Given the description of an element on the screen output the (x, y) to click on. 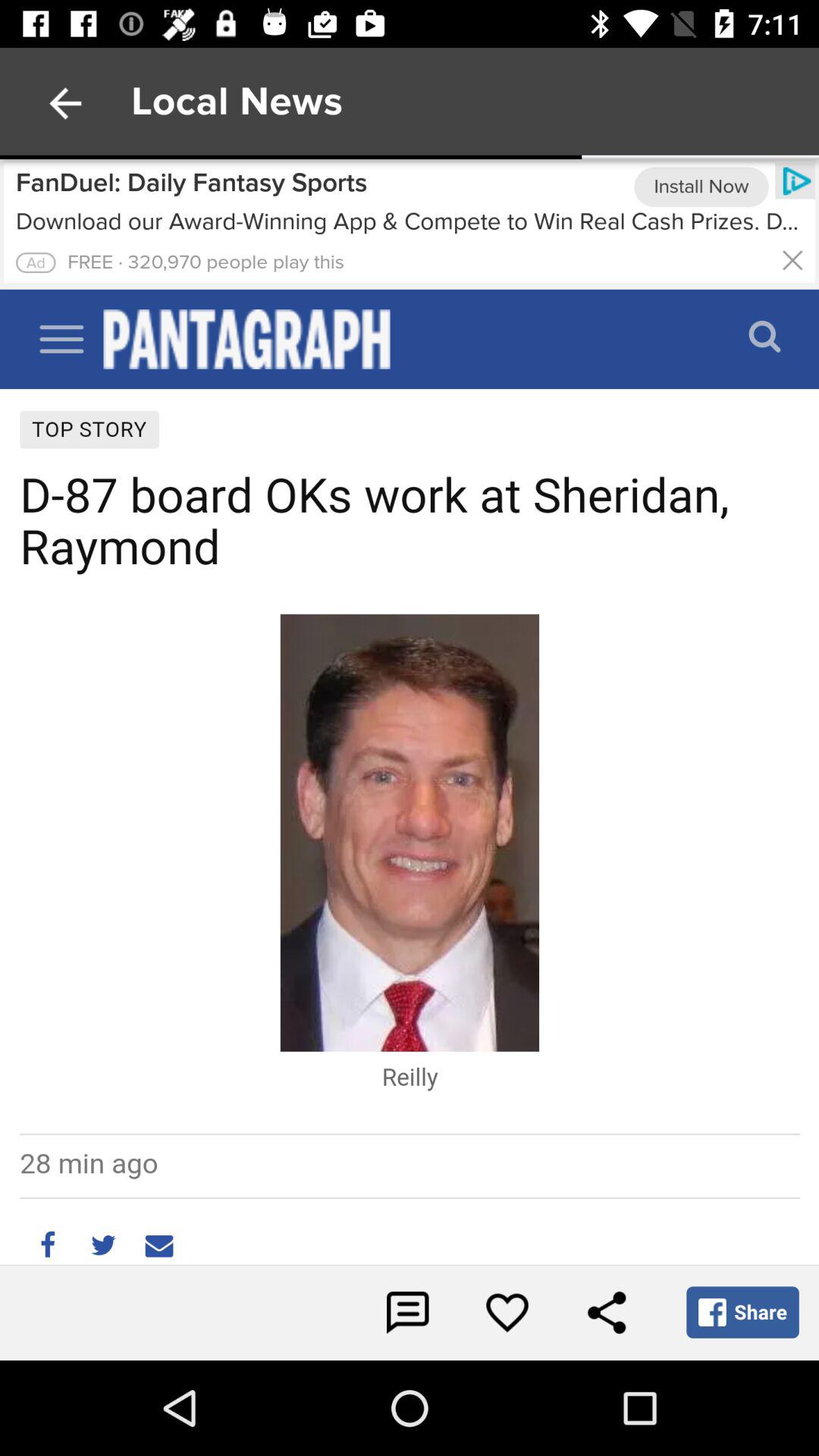
close advertisement bar (791, 259)
